Given the description of an element on the screen output the (x, y) to click on. 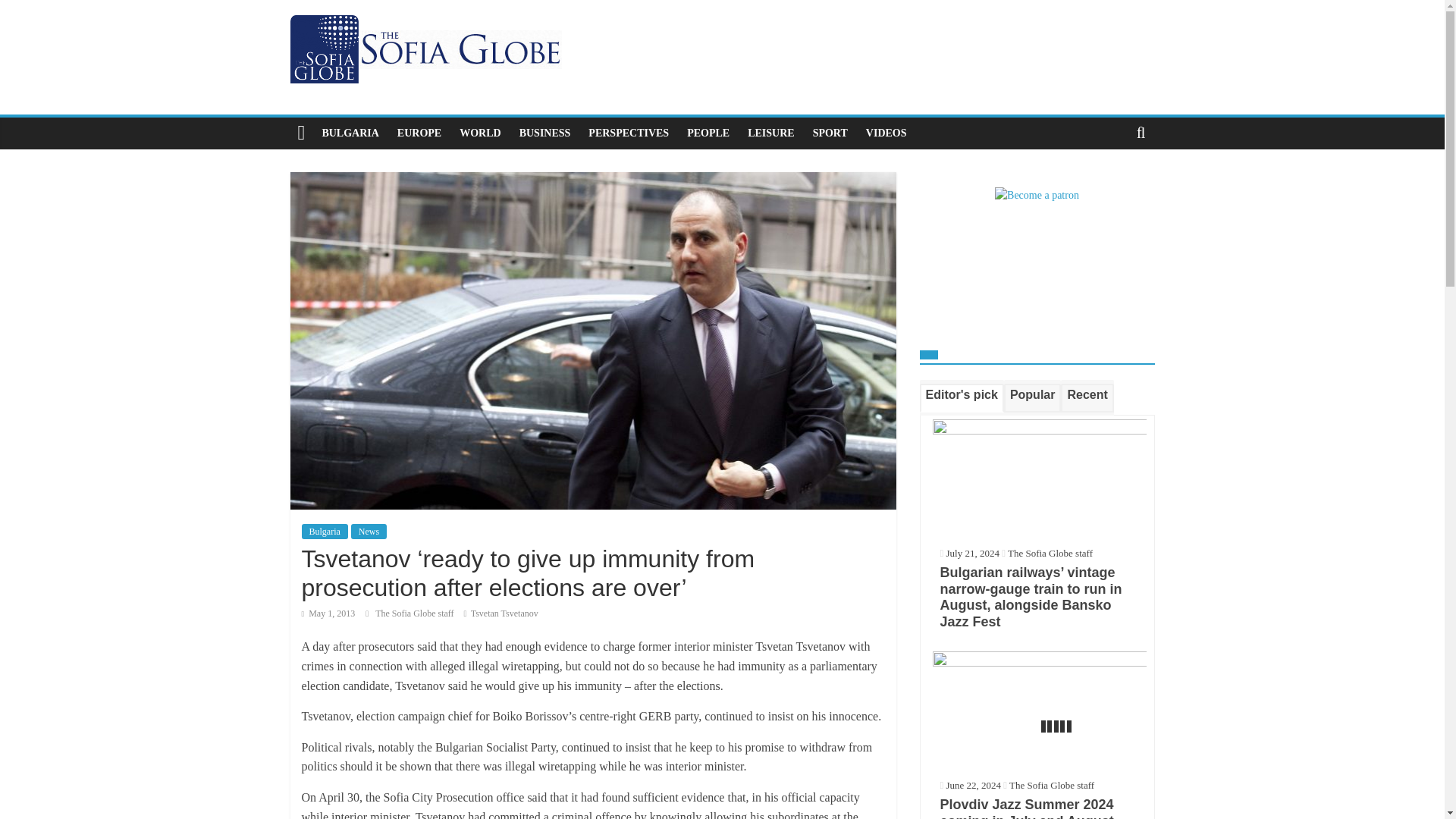
SPORT (830, 133)
BUSINESS (545, 133)
Tsvetan Tsvetanov (504, 613)
12:03 PM (328, 613)
LEISURE (770, 133)
The Sofia Globe staff (415, 613)
PEOPLE (708, 133)
May 1, 2013 (328, 613)
EUROPE (418, 133)
The Sofia Globe staff (415, 613)
